Given the description of an element on the screen output the (x, y) to click on. 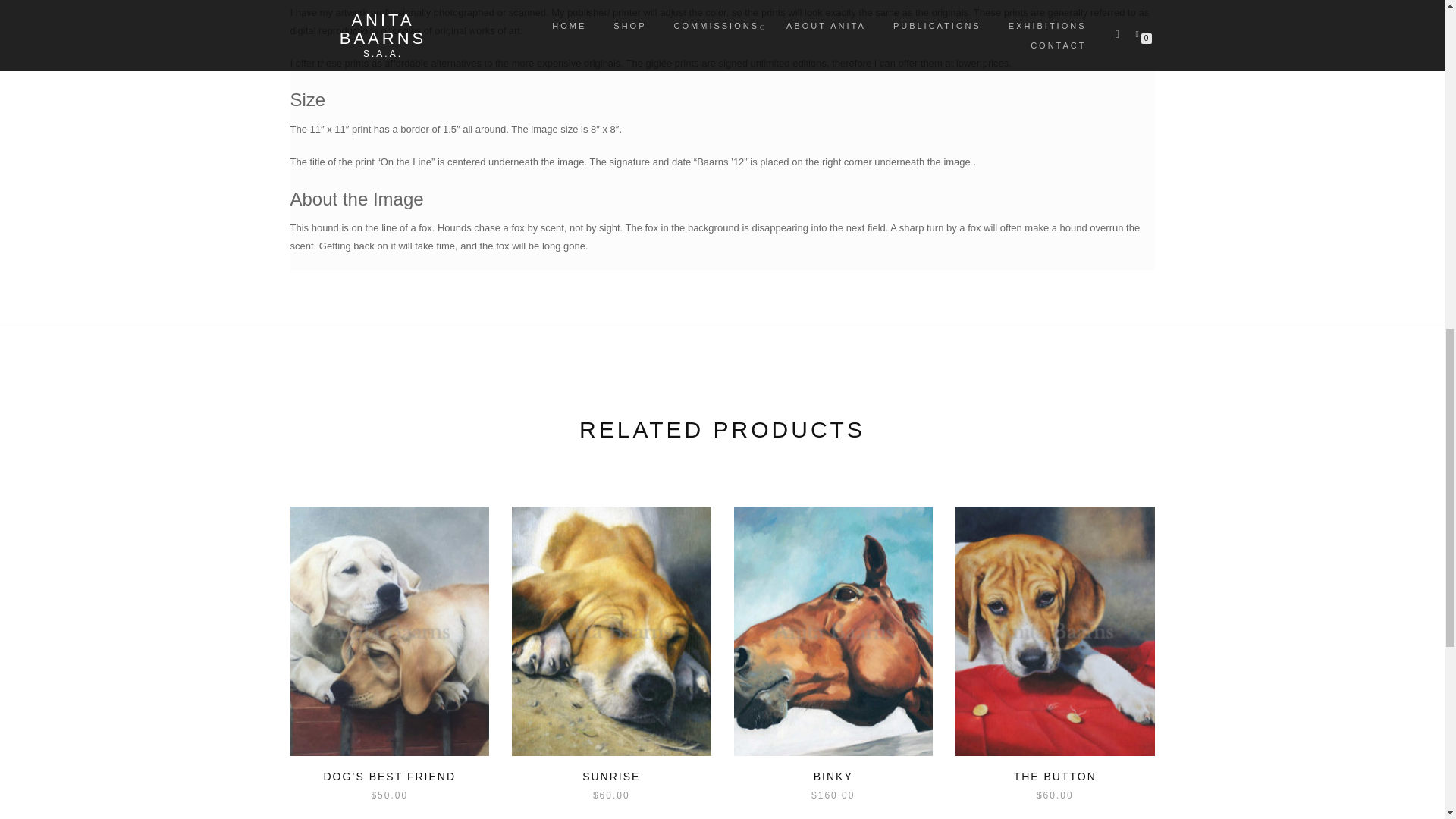
Binky (832, 630)
The Button (1054, 630)
Dog's Best Friend (389, 630)
Sunrise (611, 630)
